Given the description of an element on the screen output the (x, y) to click on. 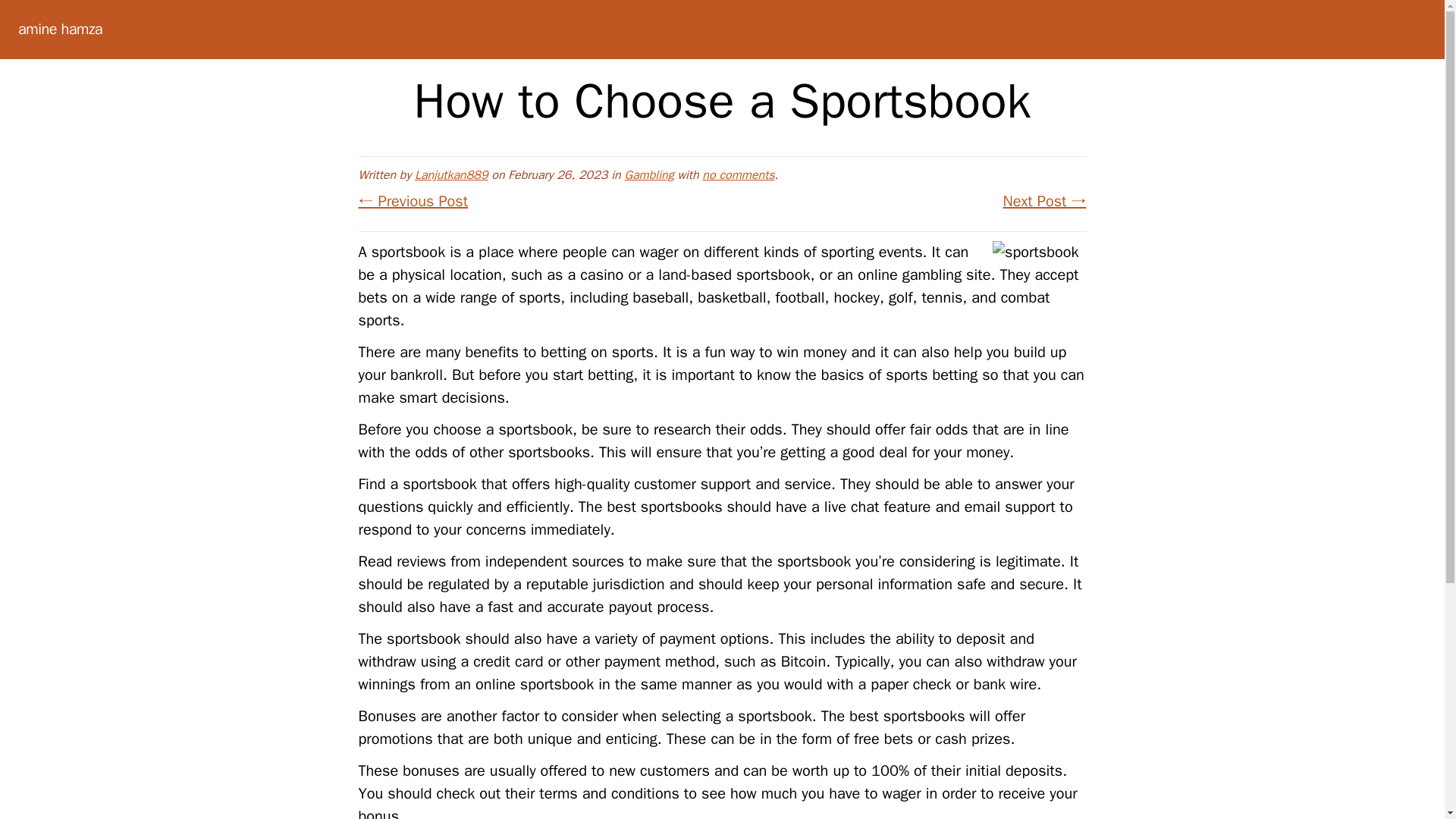
amine hamza (59, 29)
Gambling (648, 174)
no comments (737, 174)
no comments (737, 174)
Lanjutkan889 (450, 174)
